Given the description of an element on the screen output the (x, y) to click on. 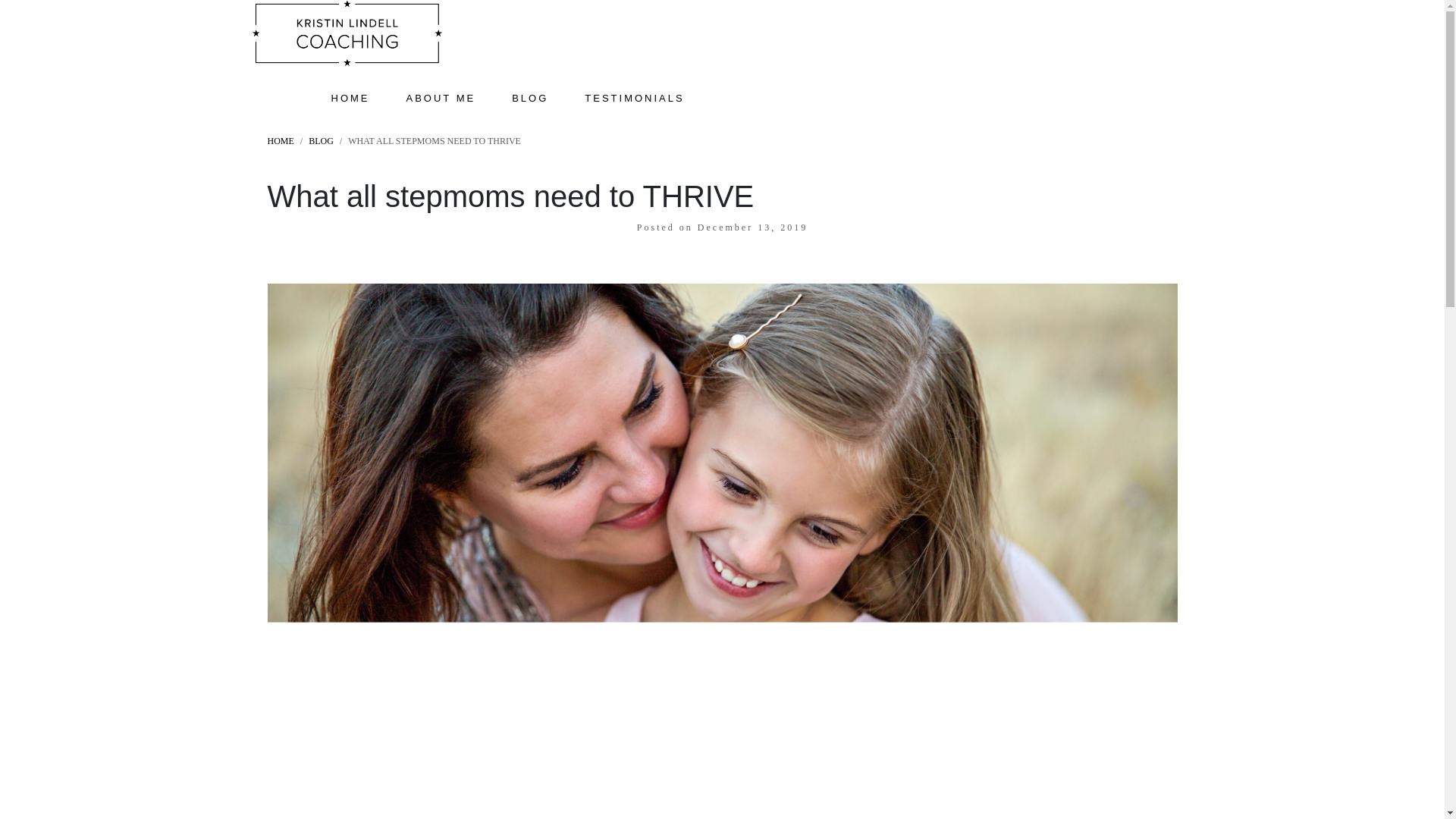
ABOUT ME (441, 70)
BLOG (320, 140)
HOME (280, 140)
Watch the video now! (722, 459)
TESTIMONIALS (633, 70)
